Given the description of an element on the screen output the (x, y) to click on. 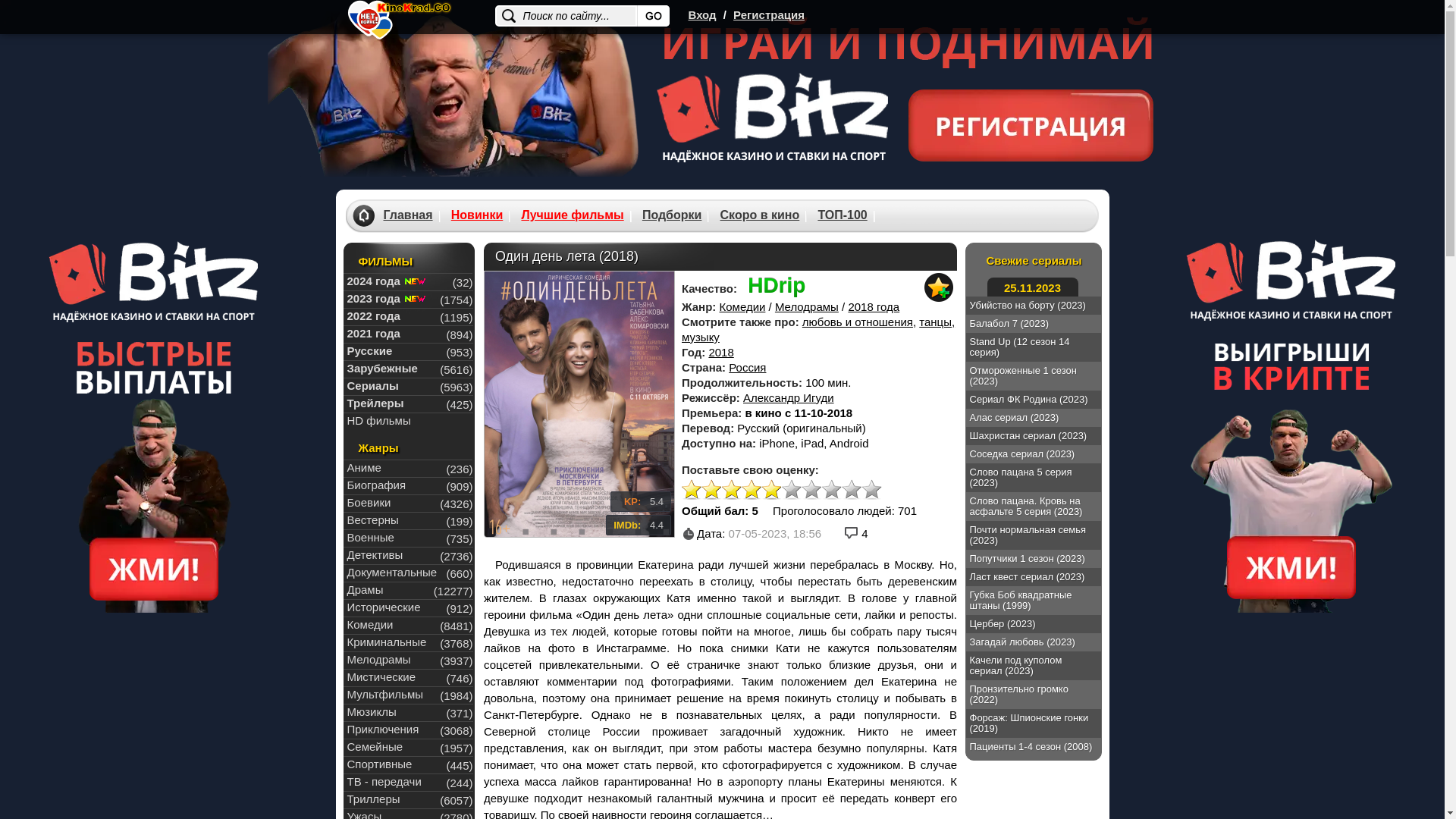
9 Element type: text (851, 489)
10 Element type: text (871, 489)
2018 Element type: text (720, 351)
8 Element type: text (831, 489)
25.11.2023 Element type: text (1032, 286)
5 Element type: text (771, 489)
7 Element type: text (811, 489)
6 Element type: text (791, 489)
1 Element type: text (691, 489)
3 Element type: text (731, 489)
4 Element type: text (751, 489)
2 Element type: text (711, 489)
